Given the description of an element on the screen output the (x, y) to click on. 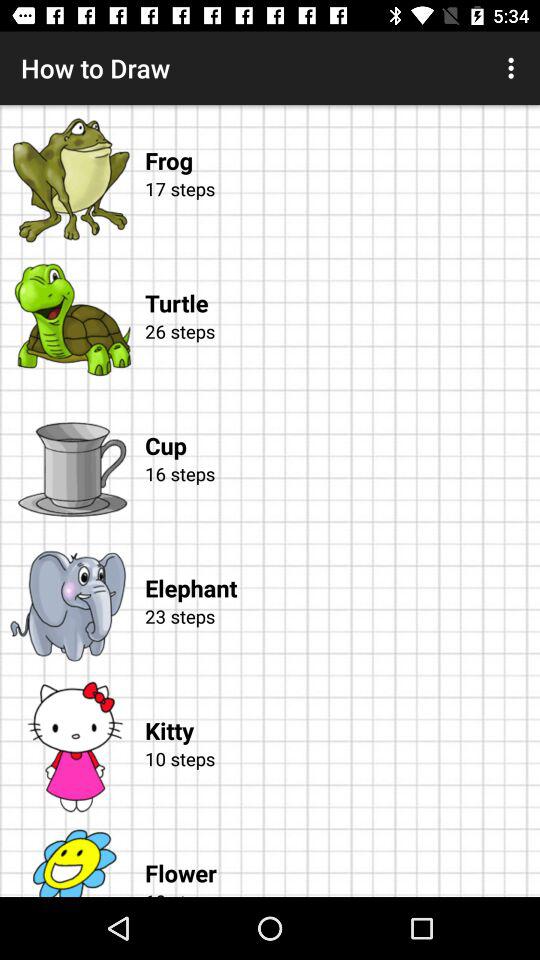
turn on icon below turtle icon (339, 354)
